Given the description of an element on the screen output the (x, y) to click on. 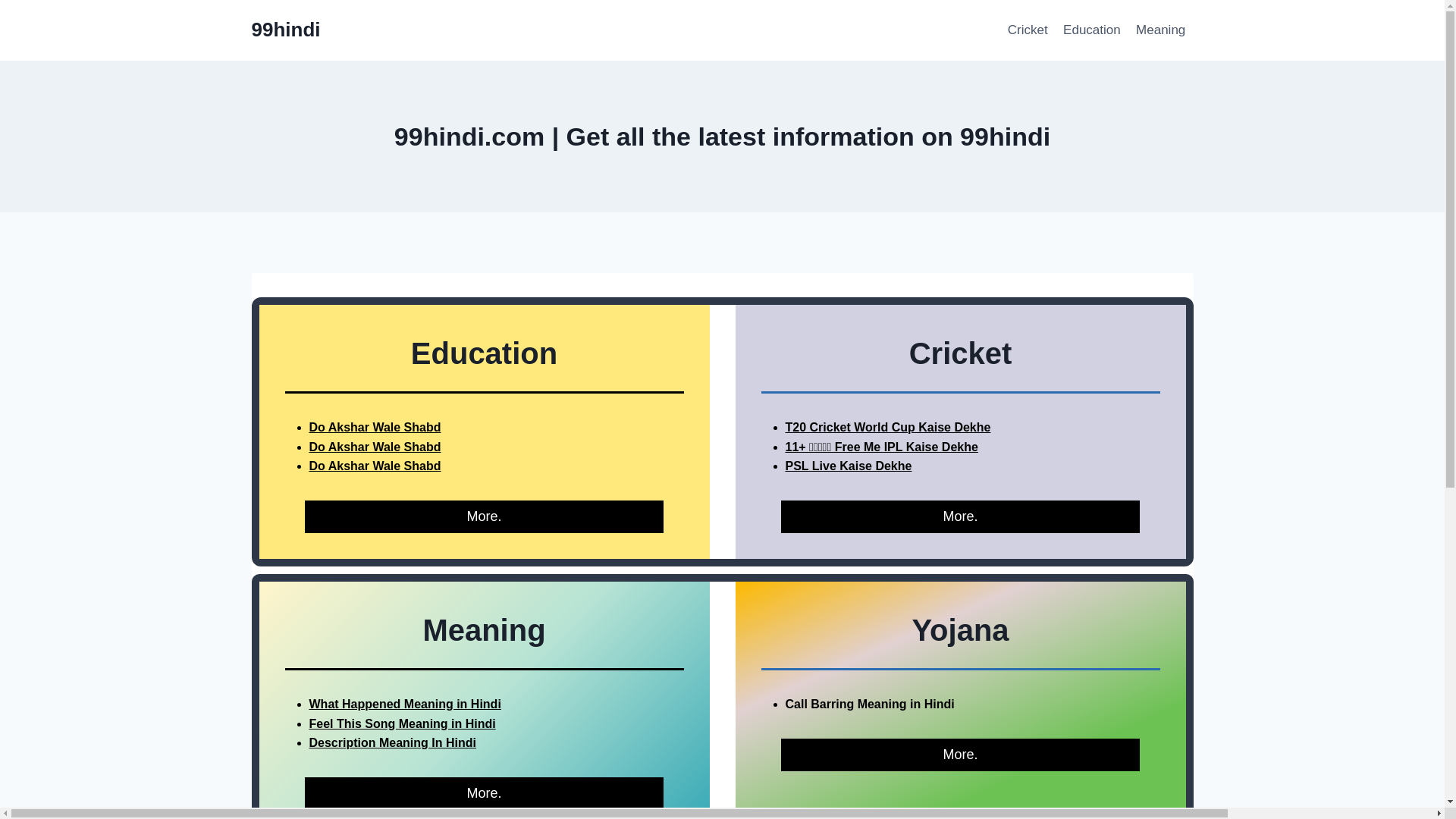
What Happened Meaning in Hindi (404, 703)
More. (483, 516)
Description Meaning In Hindi (392, 742)
PSL Live Kaise Dekhe (849, 465)
Education (1091, 30)
Do Akshar Wale Shabd (374, 427)
Cricket (1027, 30)
Do Akshar Wale Shabd (374, 446)
More. (960, 516)
Meaning (1160, 30)
